Given the description of an element on the screen output the (x, y) to click on. 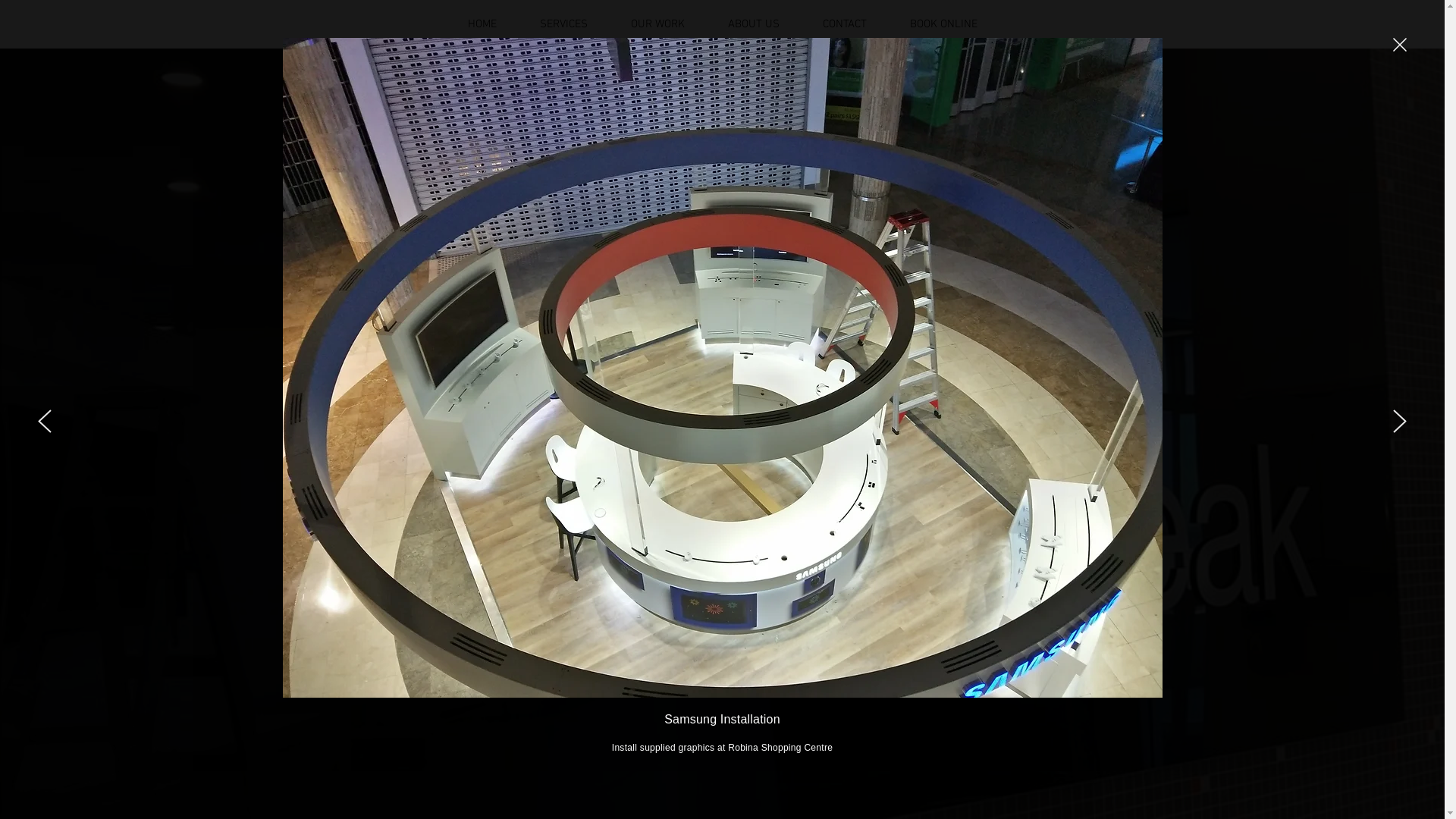
HOME Element type: text (481, 24)
CONTACT Element type: text (844, 24)
SERVICES Element type: text (563, 24)
BOOK ONLINE Element type: text (943, 24)
ABOUT US Element type: text (753, 24)
OUR WORK Element type: text (657, 24)
